Given the description of an element on the screen output the (x, y) to click on. 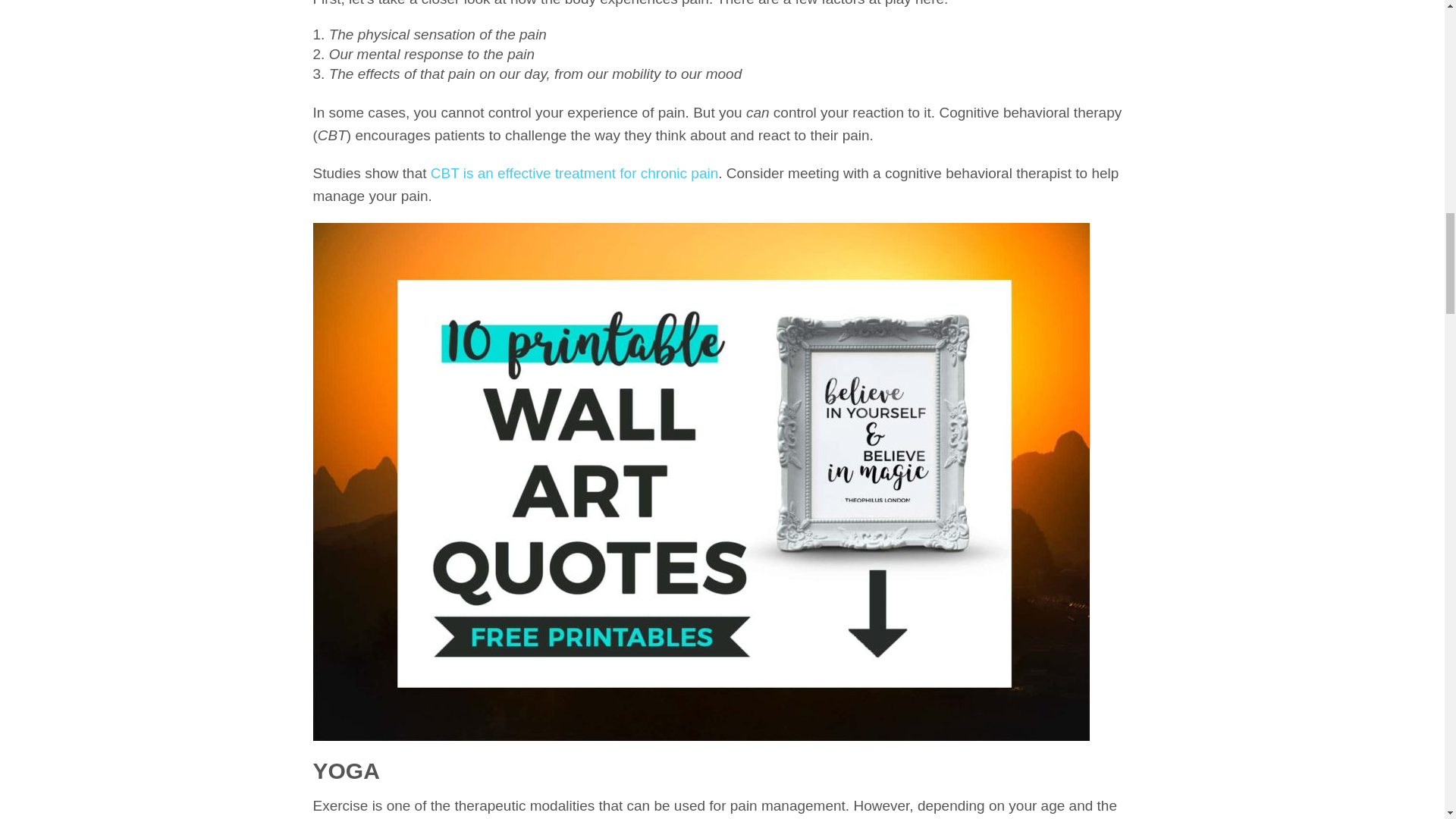
CBT is an effective treatment for chronic pain (573, 172)
Slay Your Goals - Mindset- FREE Wall Art Quotes (701, 728)
